Given the description of an element on the screen output the (x, y) to click on. 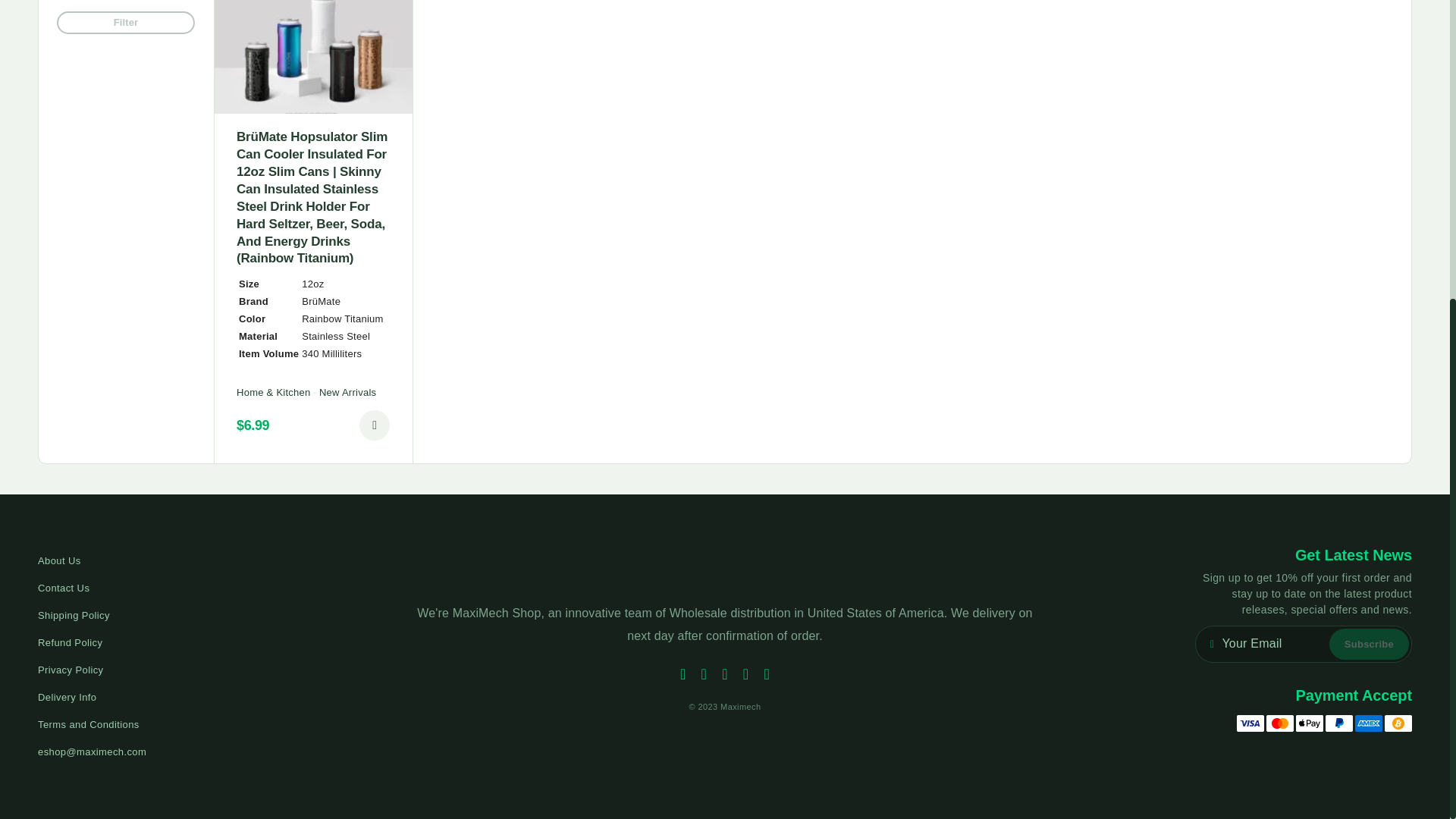
Subscribe (1369, 644)
View all posts in New Arrivals (346, 392)
